Given the description of an element on the screen output the (x, y) to click on. 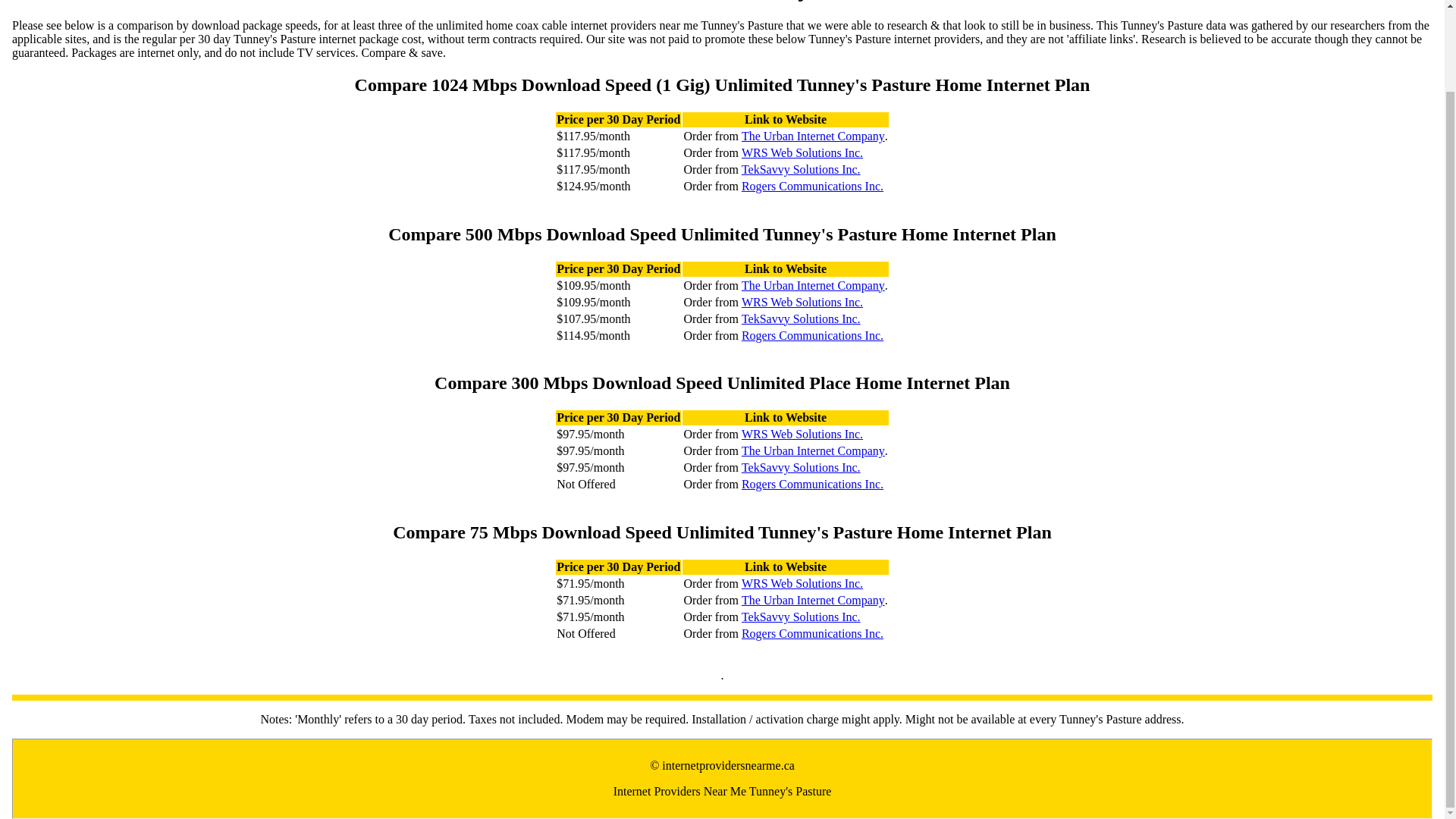
WRS Web Solutions Inc. (802, 152)
WRS Web Solutions Inc. (802, 301)
The Urban Internet Company (813, 600)
The Urban Internet Company (813, 284)
TekSavvy Solutions Inc. (800, 169)
Rogers Communications Inc. (812, 335)
The Urban Internet Company (813, 450)
WRS Web Solutions Inc. (802, 434)
TekSavvy Solutions Inc. (800, 318)
TekSavvy Solutions Inc. (800, 468)
